Given the description of an element on the screen output the (x, y) to click on. 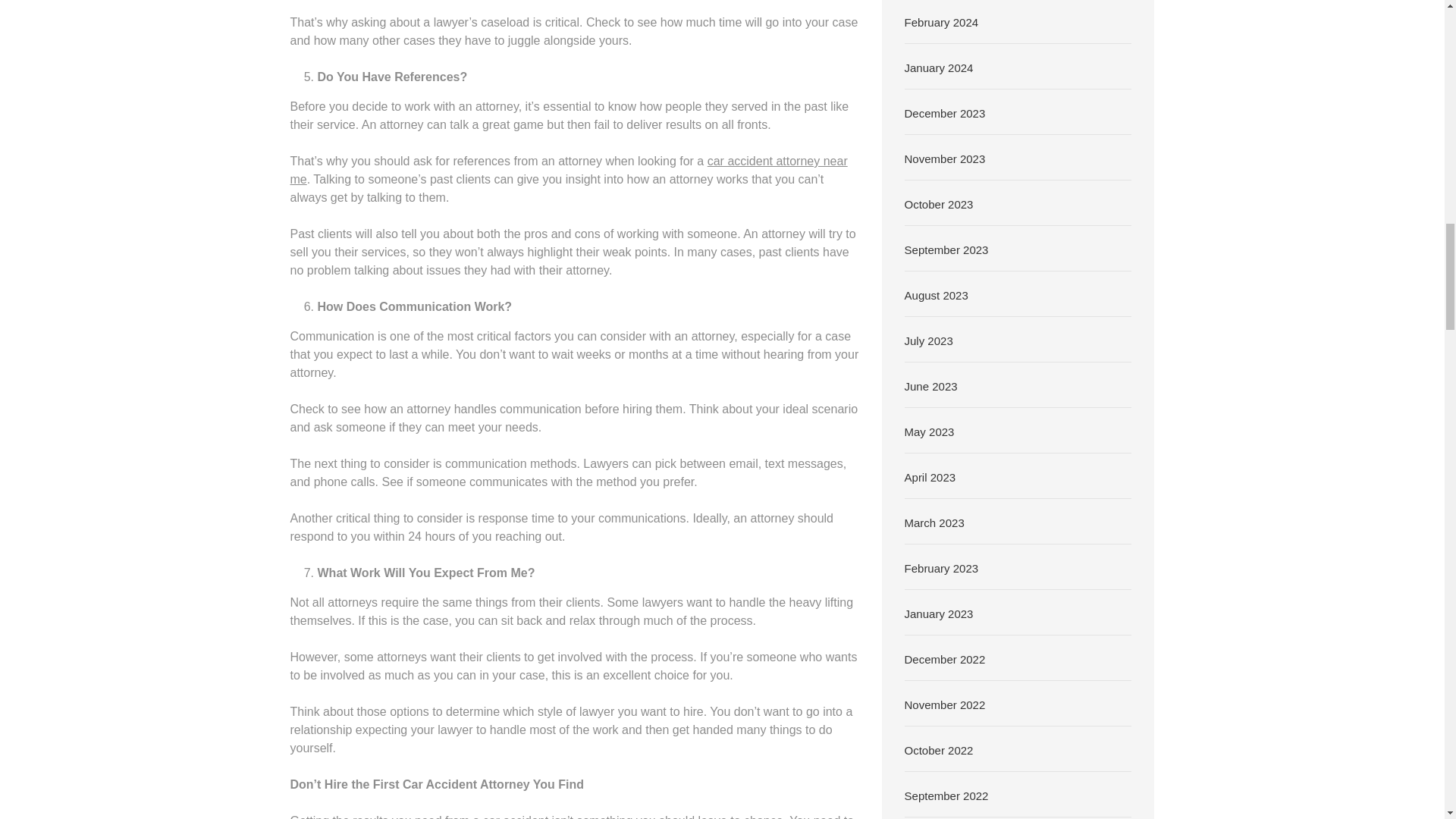
car accident attorney near me (568, 169)
